Given the description of an element on the screen output the (x, y) to click on. 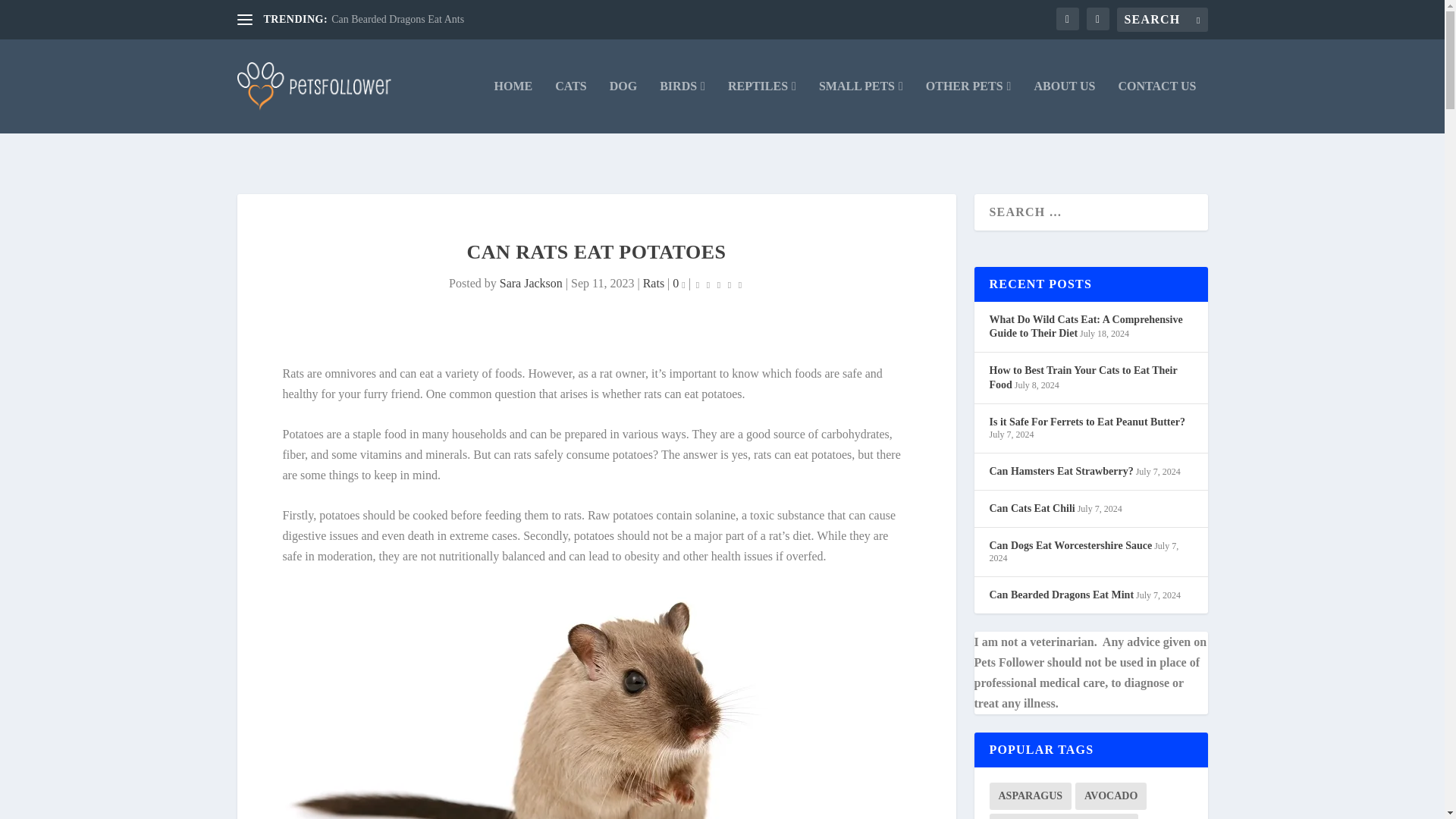
Can Bearded Dragons Eat Ants (397, 19)
CONTACT US (1157, 106)
Posts by Sara Jackson (530, 282)
SMALL PETS (860, 106)
ABOUT US (1063, 106)
Rating: 0.00 (719, 283)
OTHER PETS (968, 106)
0 (678, 282)
Search for: (1161, 19)
Sara Jackson (530, 282)
REPTILES (762, 106)
Rats (653, 282)
